Given the description of an element on the screen output the (x, y) to click on. 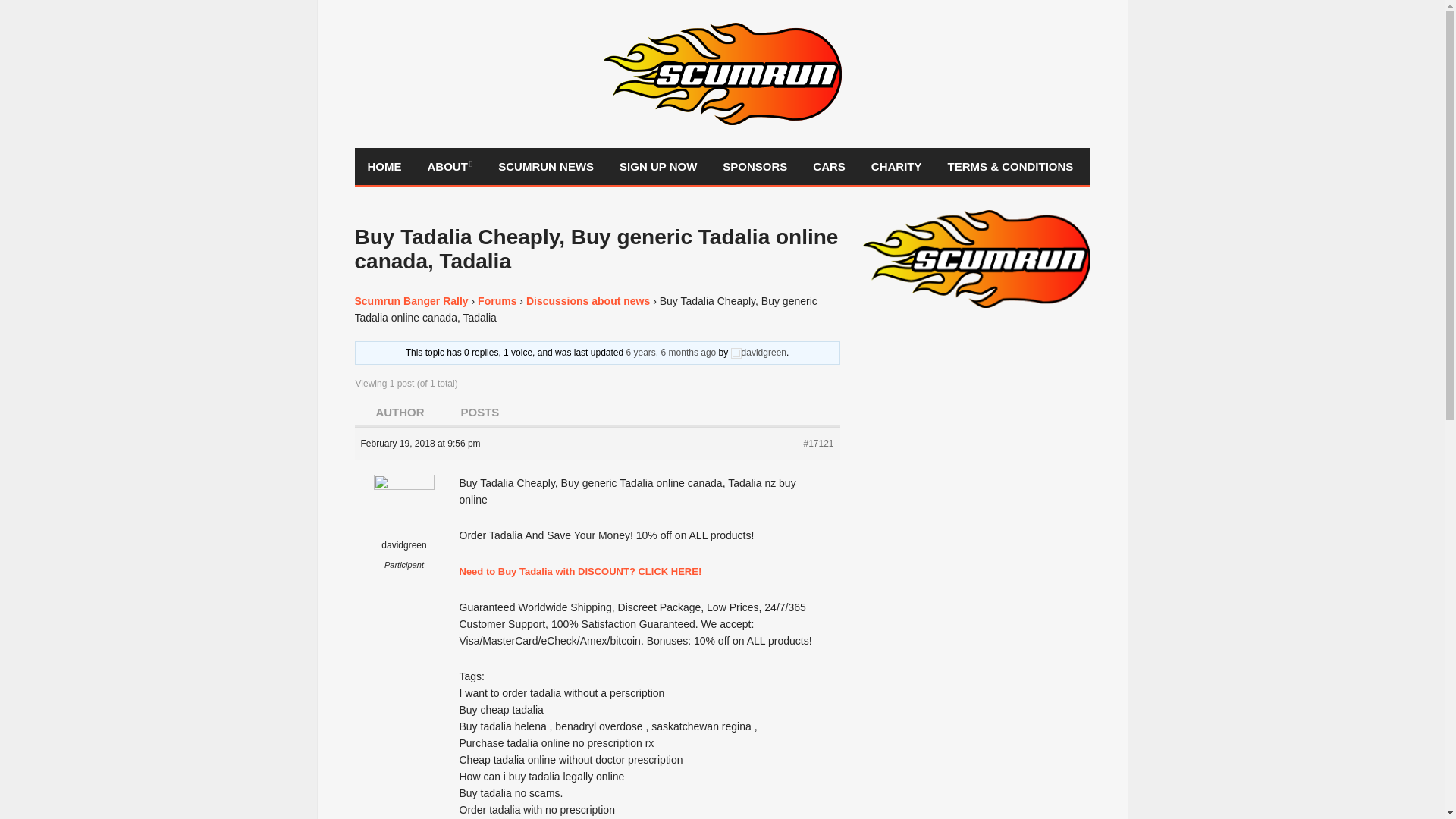
About (448, 166)
davidgreen (404, 524)
Forums (496, 300)
View davidgreen's profile (758, 352)
Scumrun Banger Rally (411, 300)
Sponsors (754, 166)
Scumrun News (545, 166)
CARS (829, 166)
SCUMRUN NEWS (545, 166)
Discussions about news (587, 300)
